Given the description of an element on the screen output the (x, y) to click on. 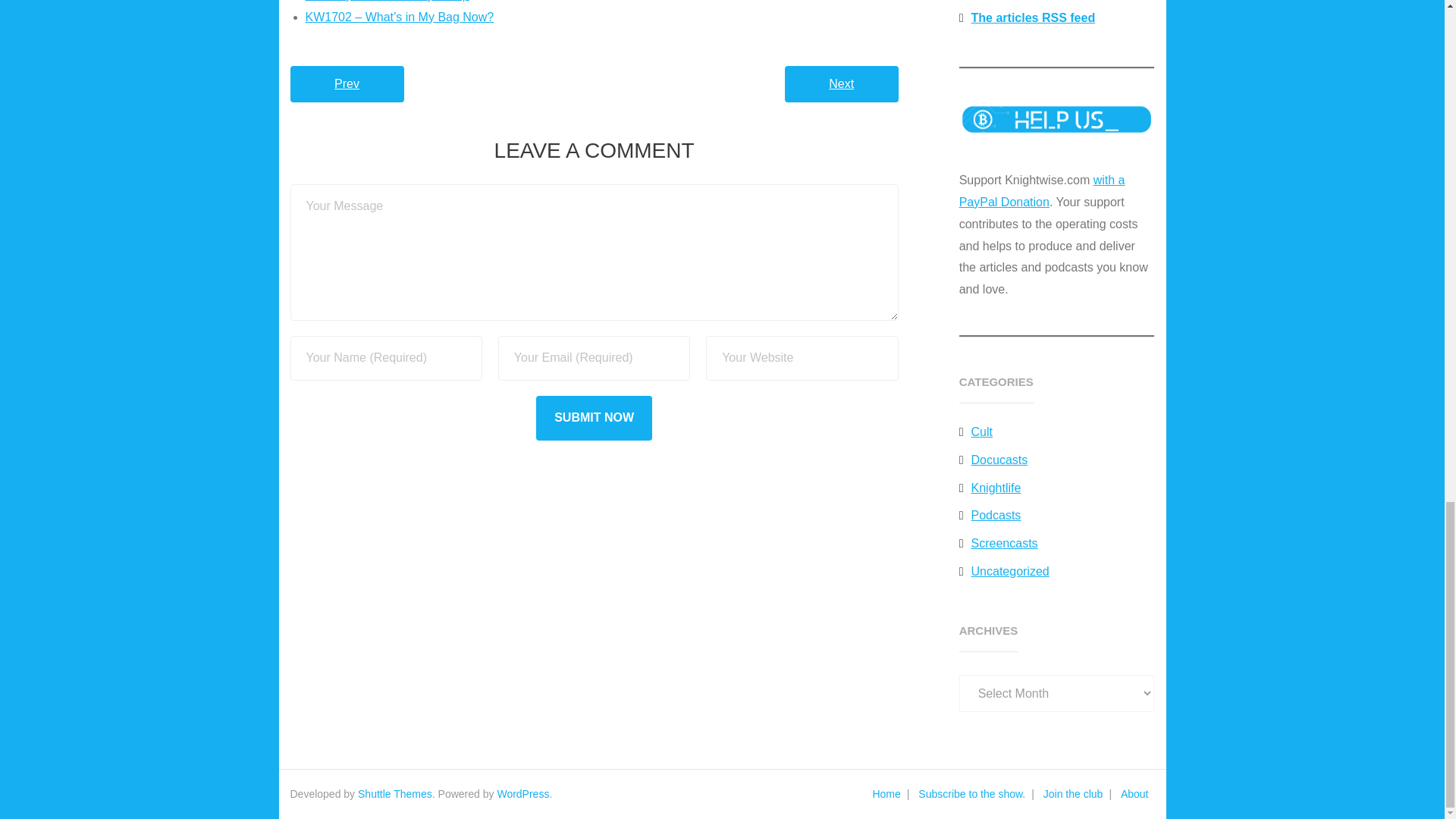
Submit Now (593, 417)
Cult (975, 432)
Docucasts (993, 460)
The podcast RSS feed (1029, 2)
Submit Now (593, 417)
with a PayPal Donation (1042, 190)
The articles RSS feed (1026, 18)
Next (841, 84)
Prev (346, 84)
